Given the description of an element on the screen output the (x, y) to click on. 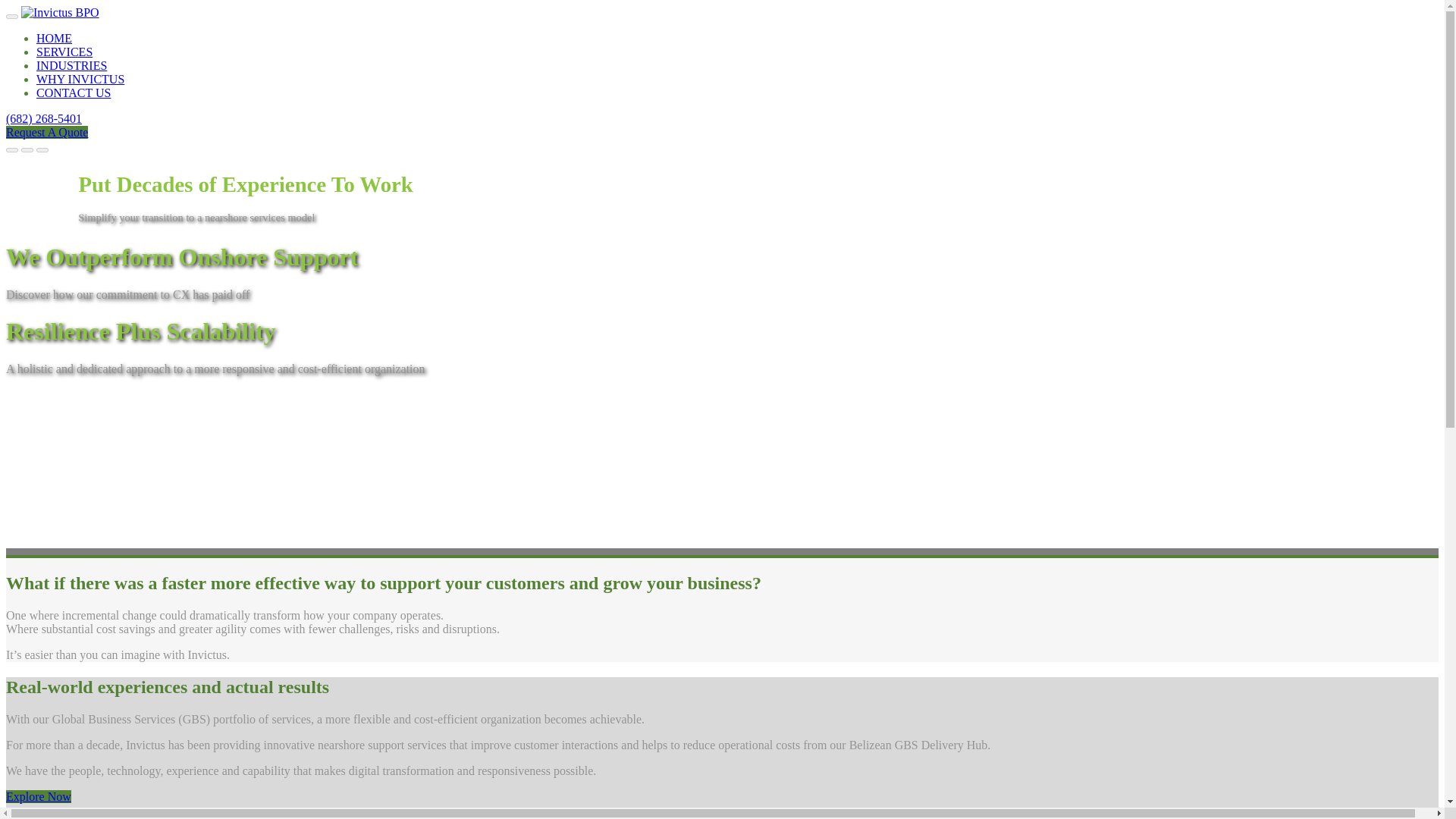
HOME (53, 38)
WHY INVICTUS (79, 78)
Explore Now (38, 796)
INDUSTRIES (71, 65)
Request A Quote (46, 132)
SERVICES (64, 51)
CONTACT US (73, 92)
